Given the description of an element on the screen output the (x, y) to click on. 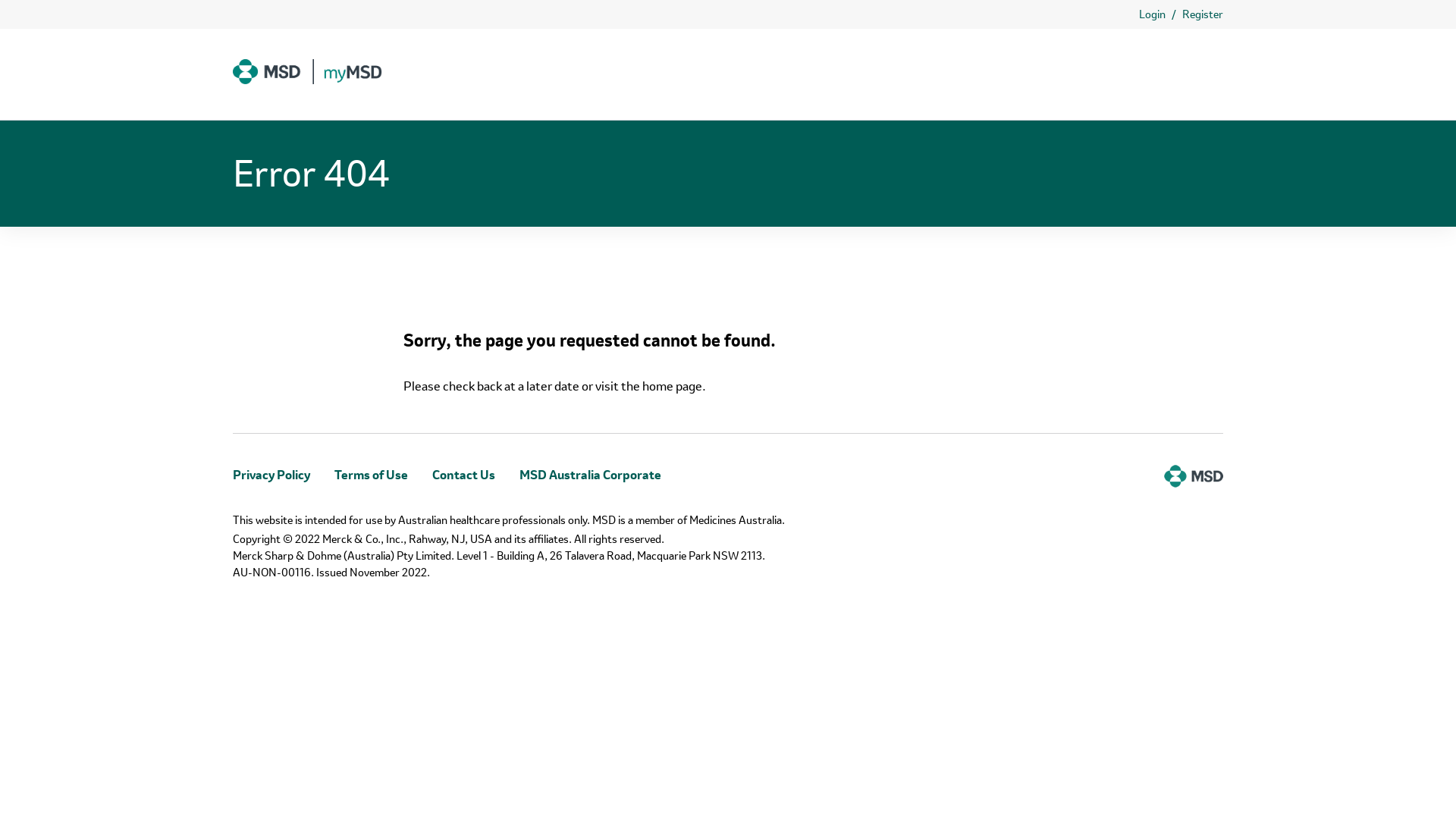
Login Element type: text (1152, 14)
MSD Australia Corporate Element type: text (590, 474)
Privacy Policy Element type: text (271, 474)
Terms of Use Element type: text (370, 474)
Register Element type: text (1202, 14)
Contact Us Element type: text (463, 474)
